Given the description of an element on the screen output the (x, y) to click on. 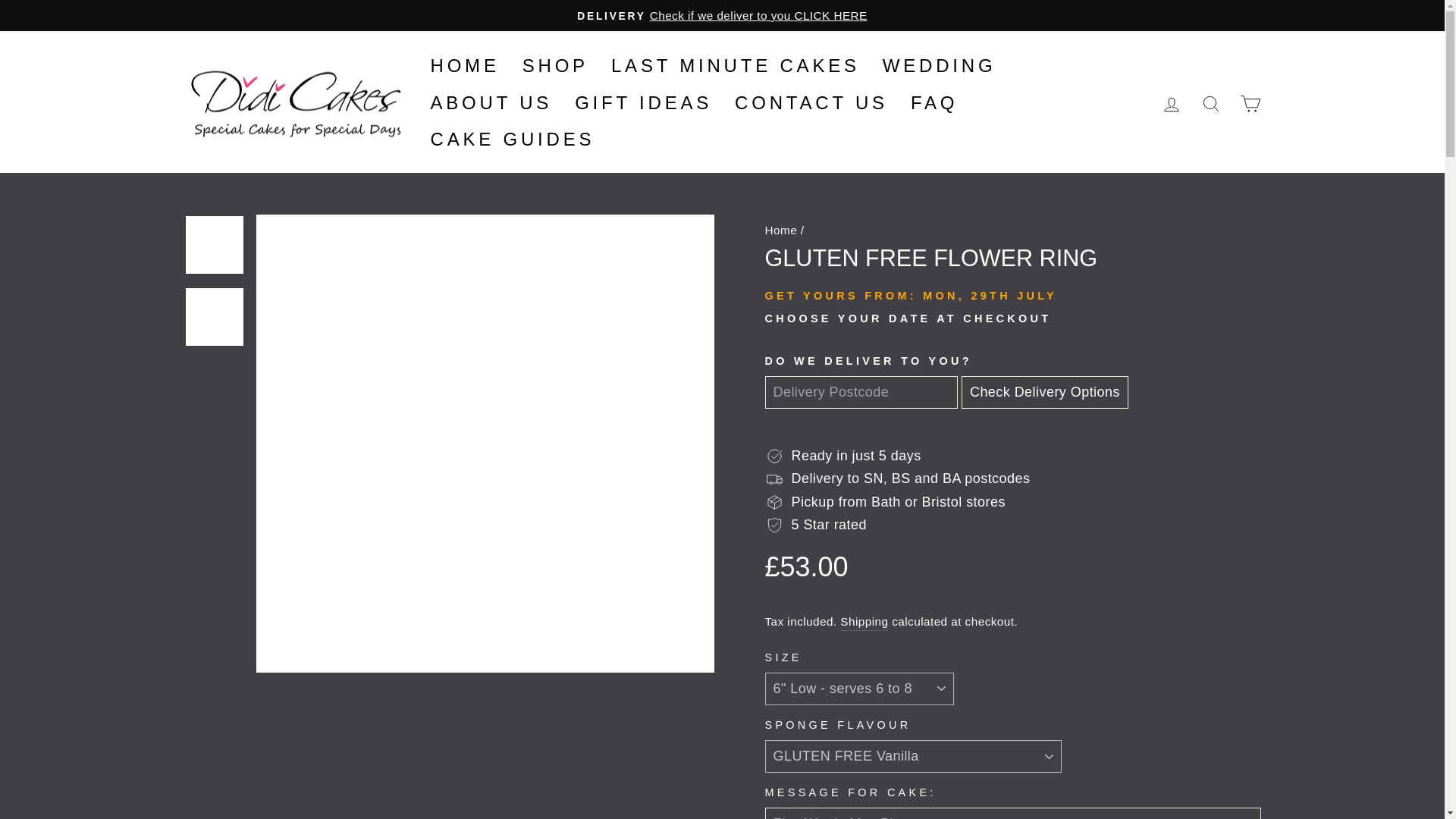
Check Delivery Options (1044, 391)
Back to the frontpage (780, 229)
